Given the description of an element on the screen output the (x, y) to click on. 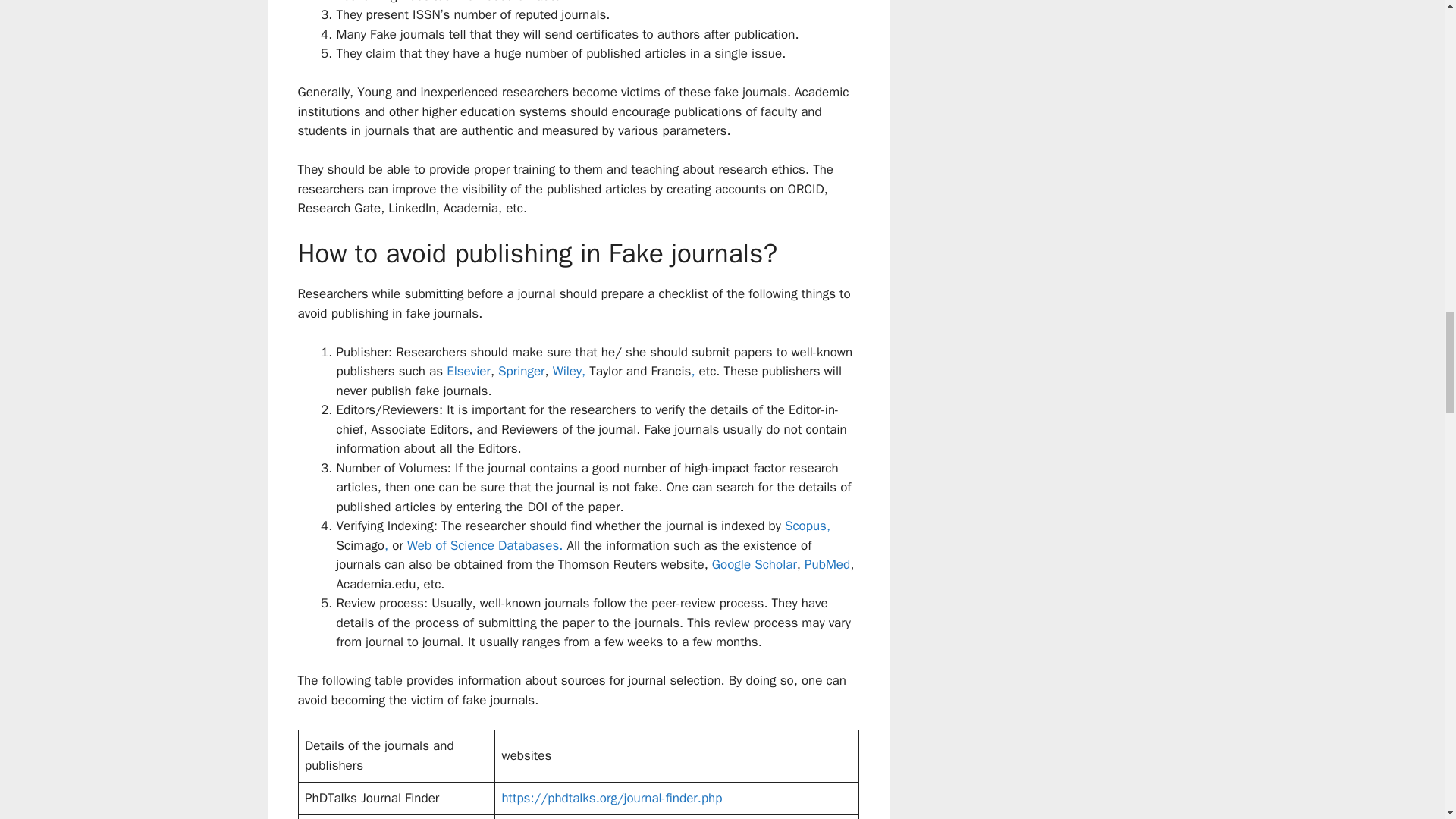
Wiley, (571, 371)
Springer (520, 371)
Scopus, (806, 525)
Elsevier (468, 371)
Web of Science Databases. (487, 545)
